Given the description of an element on the screen output the (x, y) to click on. 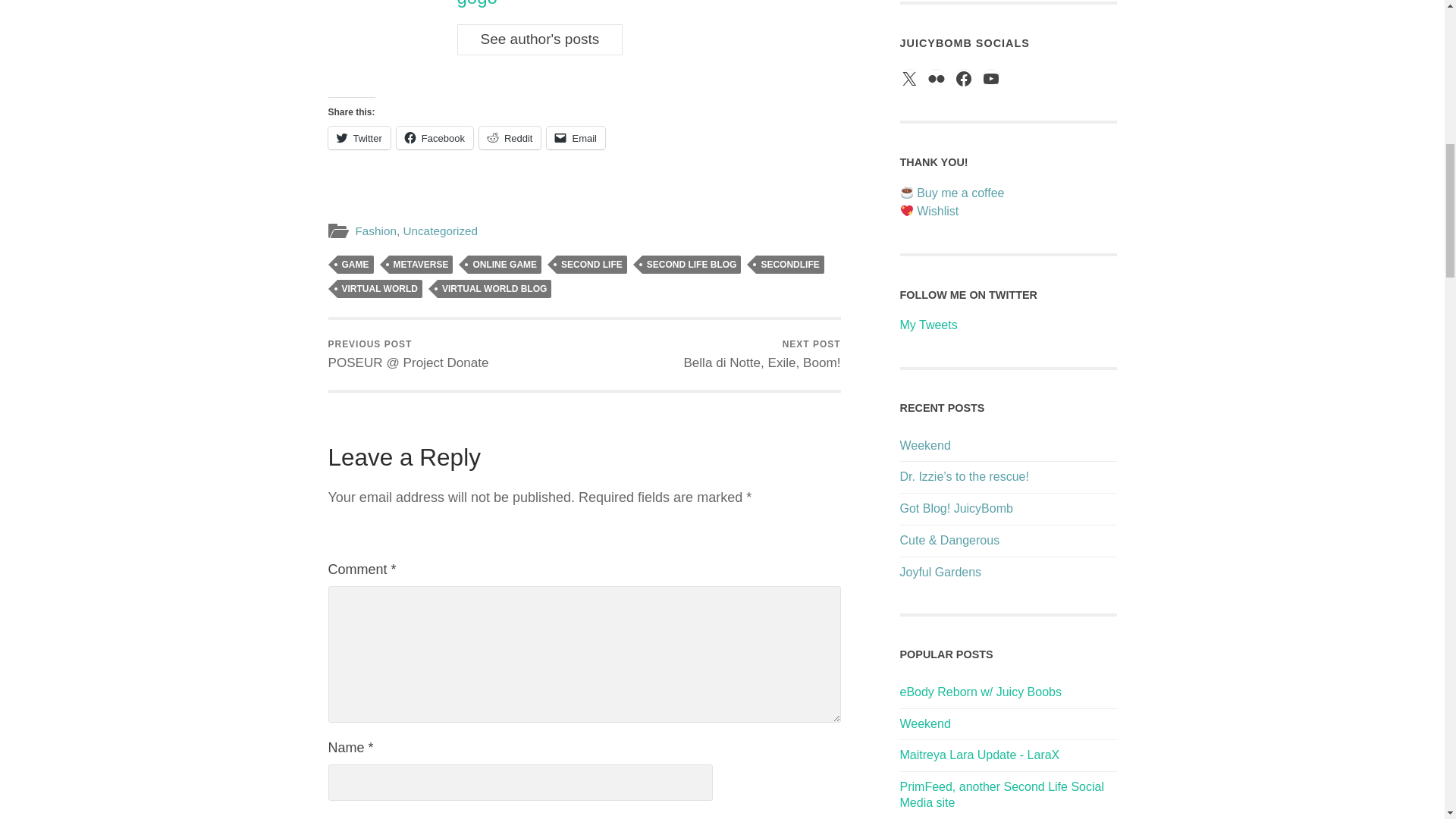
See author's posts (540, 39)
Reddit (510, 137)
gogo (476, 3)
ONLINE GAME (504, 264)
Fashion (375, 230)
Twitter (358, 137)
Click to email a link to a friend (576, 137)
Uncategorized (440, 230)
Click to share on Facebook (434, 137)
Facebook (434, 137)
